Given the description of an element on the screen output the (x, y) to click on. 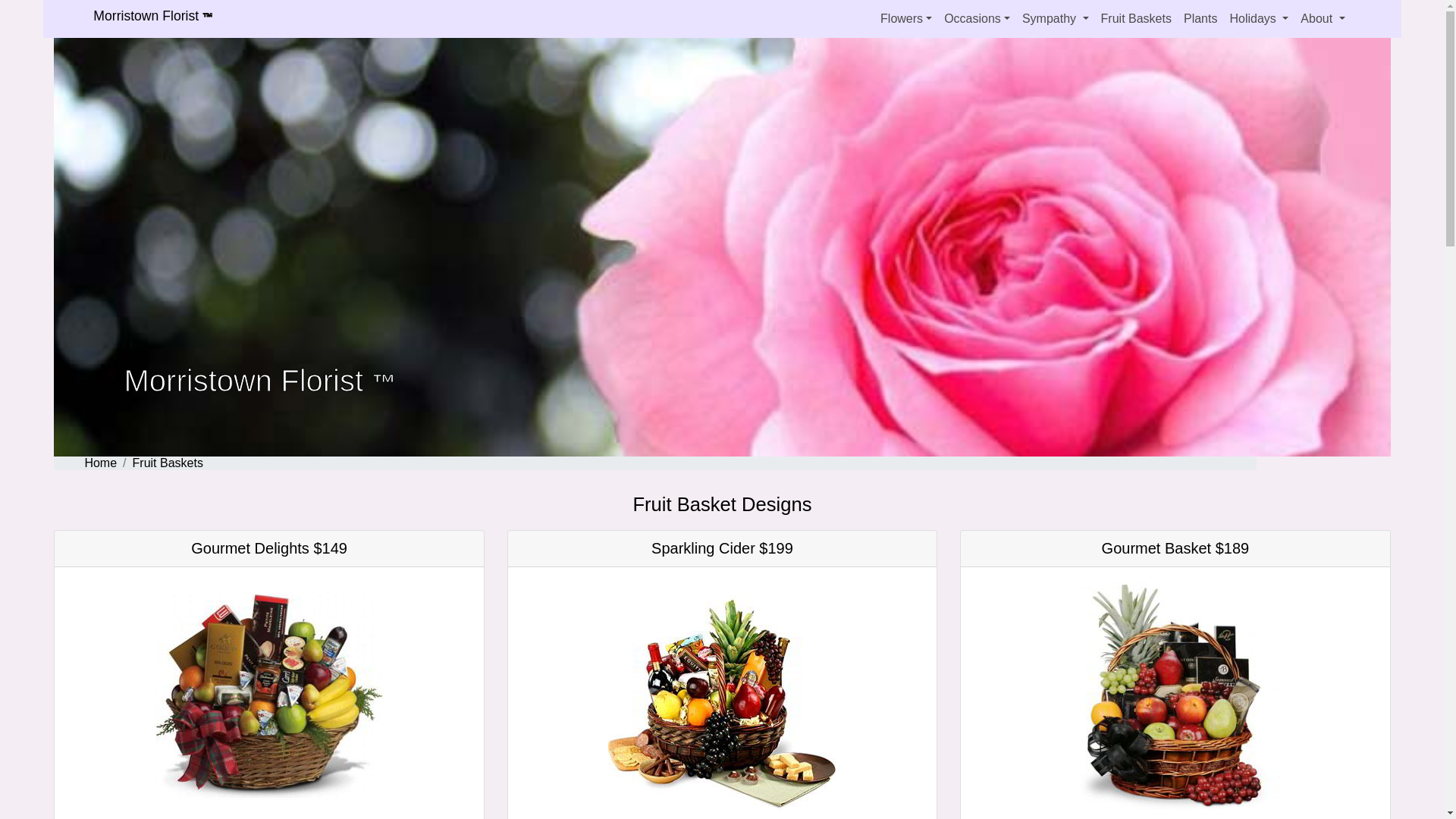
Plants (1200, 18)
About (1322, 18)
Sympathy (1055, 18)
Fruit Baskets (167, 462)
Occasions (976, 18)
Holidays (1258, 18)
Fruit Baskets (1135, 18)
Flowers (906, 18)
Home (100, 462)
